Given the description of an element on the screen output the (x, y) to click on. 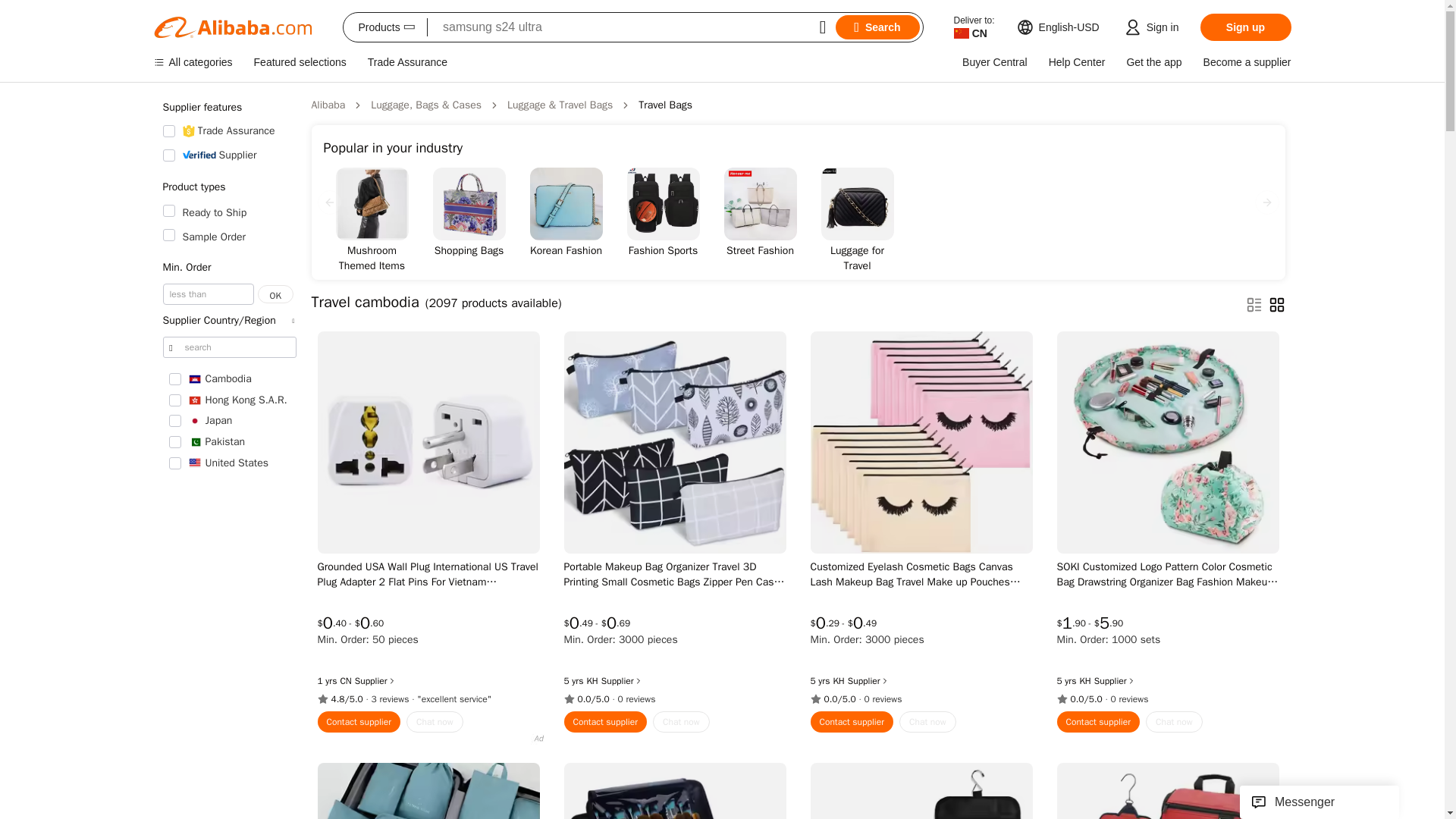
Product types (228, 187)
Min. Order (228, 267)
Supplier features (228, 107)
